Given the description of an element on the screen output the (x, y) to click on. 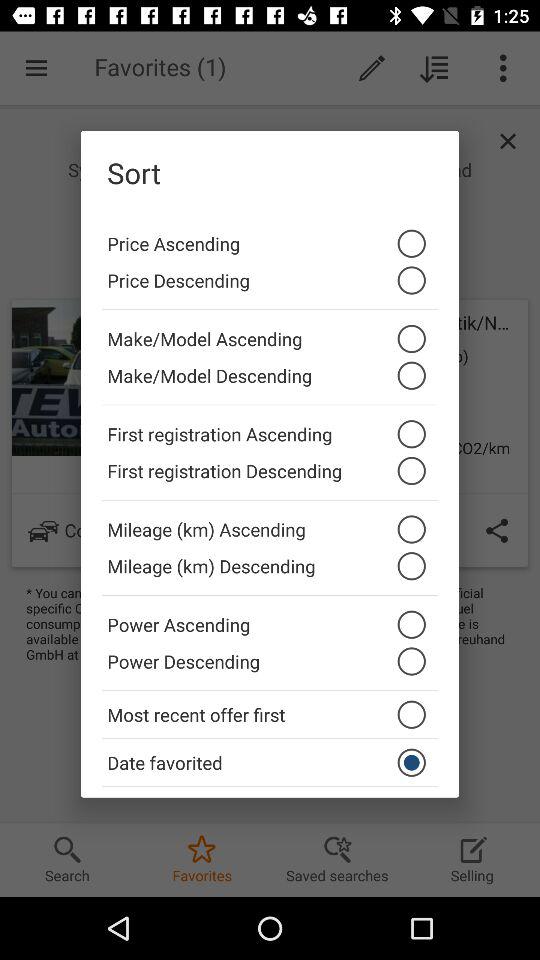
choose the icon below sort (269, 238)
